Given the description of an element on the screen output the (x, y) to click on. 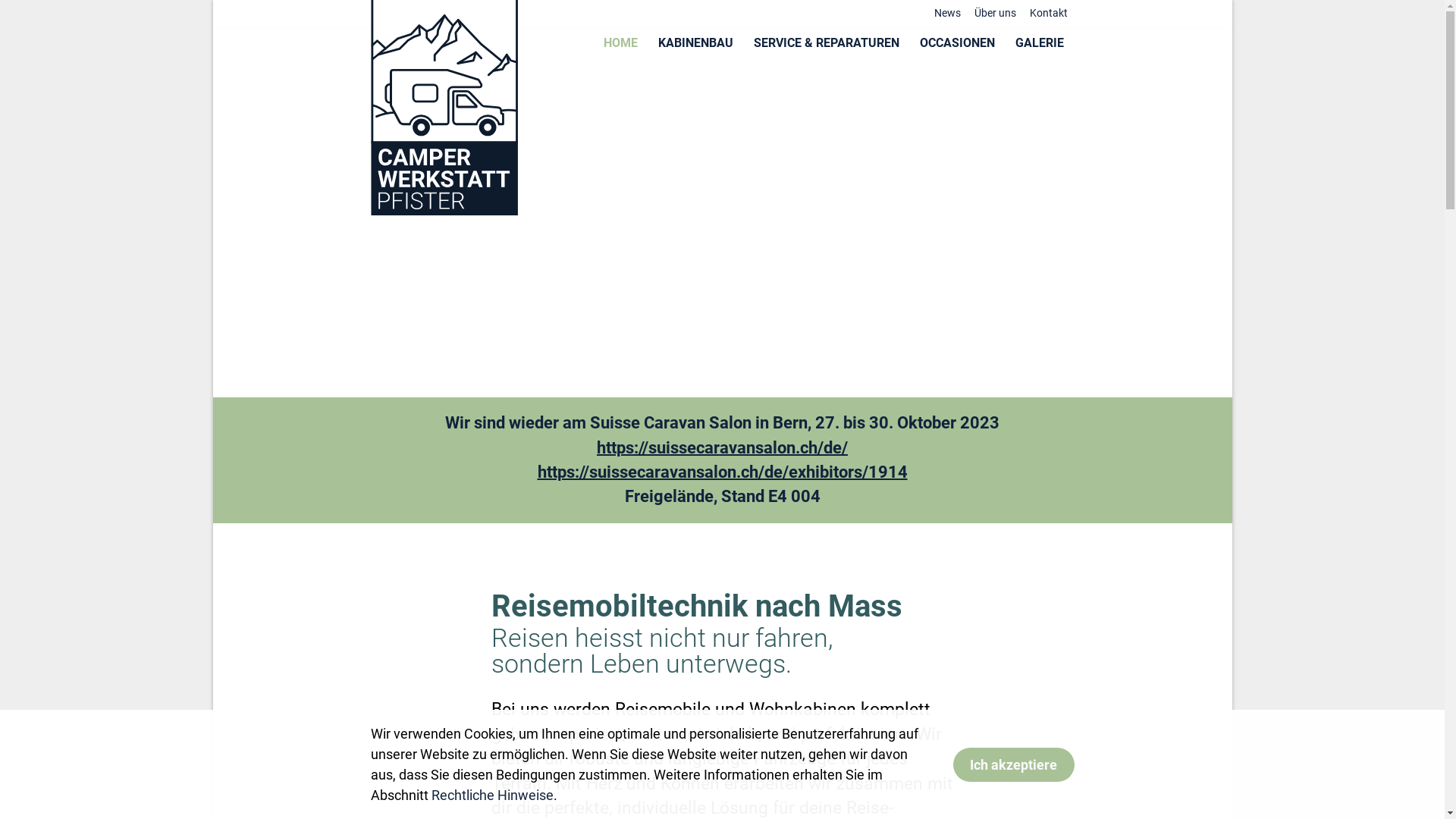
https://suissecaravansalon.ch/de/ Element type: text (721, 447)
GALERIE Element type: text (1039, 43)
KABINENBAU Element type: text (695, 43)
https://suissecaravansalon.ch/de/exhibitors/1914 Element type: text (721, 471)
News Element type: text (946, 13)
HOME Element type: text (620, 43)
Ich akzeptiere Element type: text (1012, 764)
SERVICE & REPARATUREN Element type: text (826, 43)
Kontakt Element type: text (1047, 13)
OCCASIONEN Element type: text (957, 43)
Rechtliche Hinweise Element type: text (491, 795)
